Given the description of an element on the screen output the (x, y) to click on. 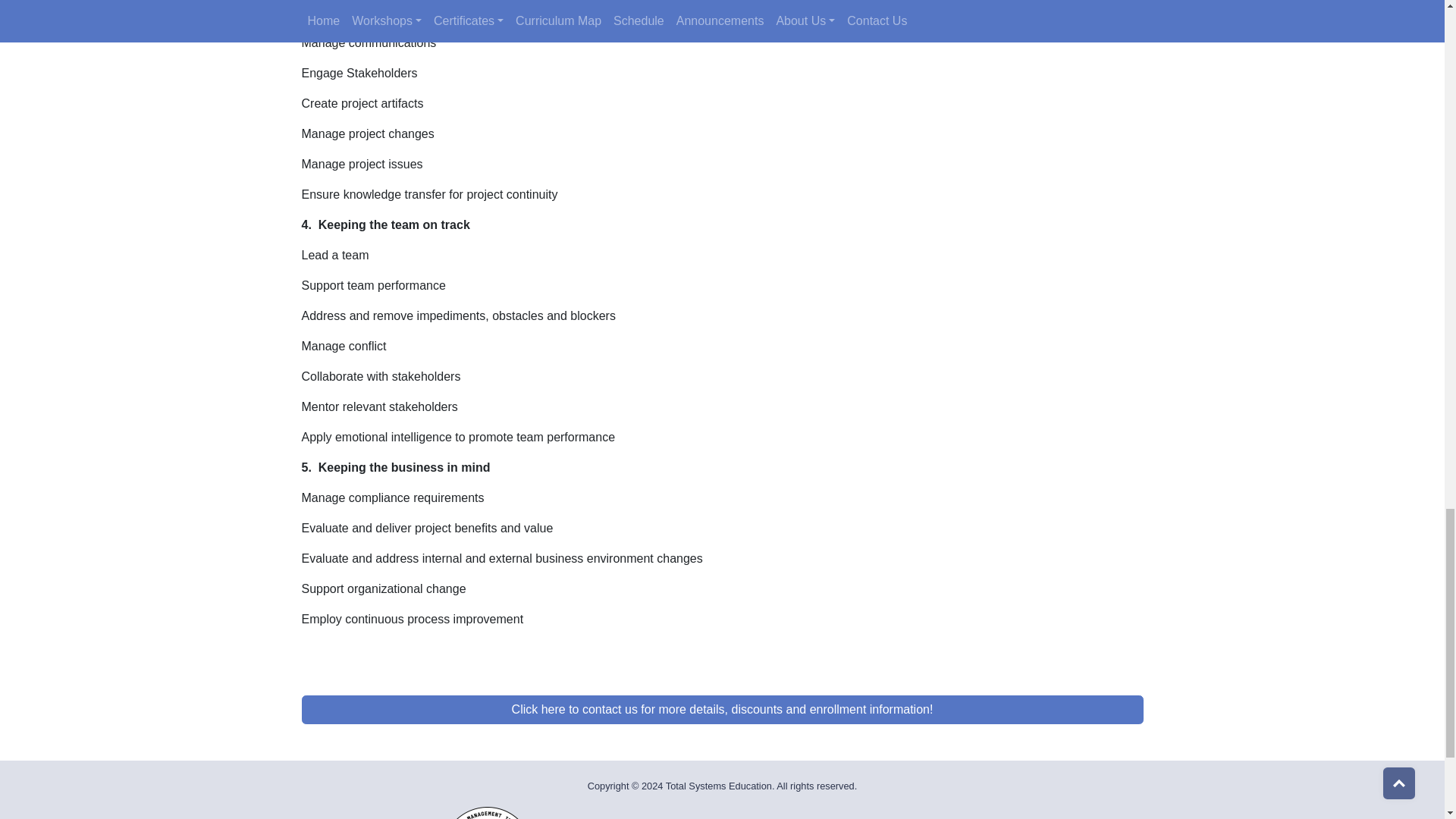
Project Management Institute Authorized Training Partner (487, 812)
